Given the description of an element on the screen output the (x, y) to click on. 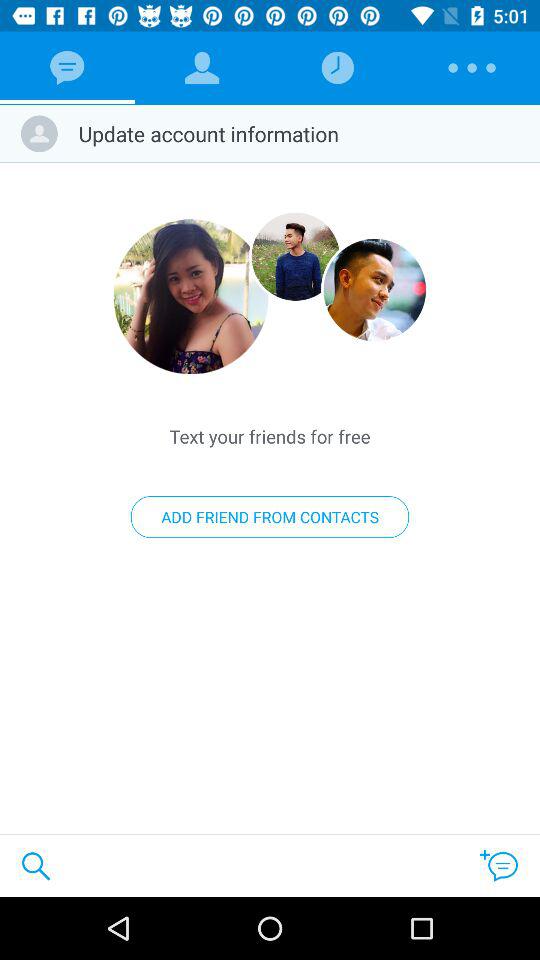
add friend from contact (295, 256)
